Given the description of an element on the screen output the (x, y) to click on. 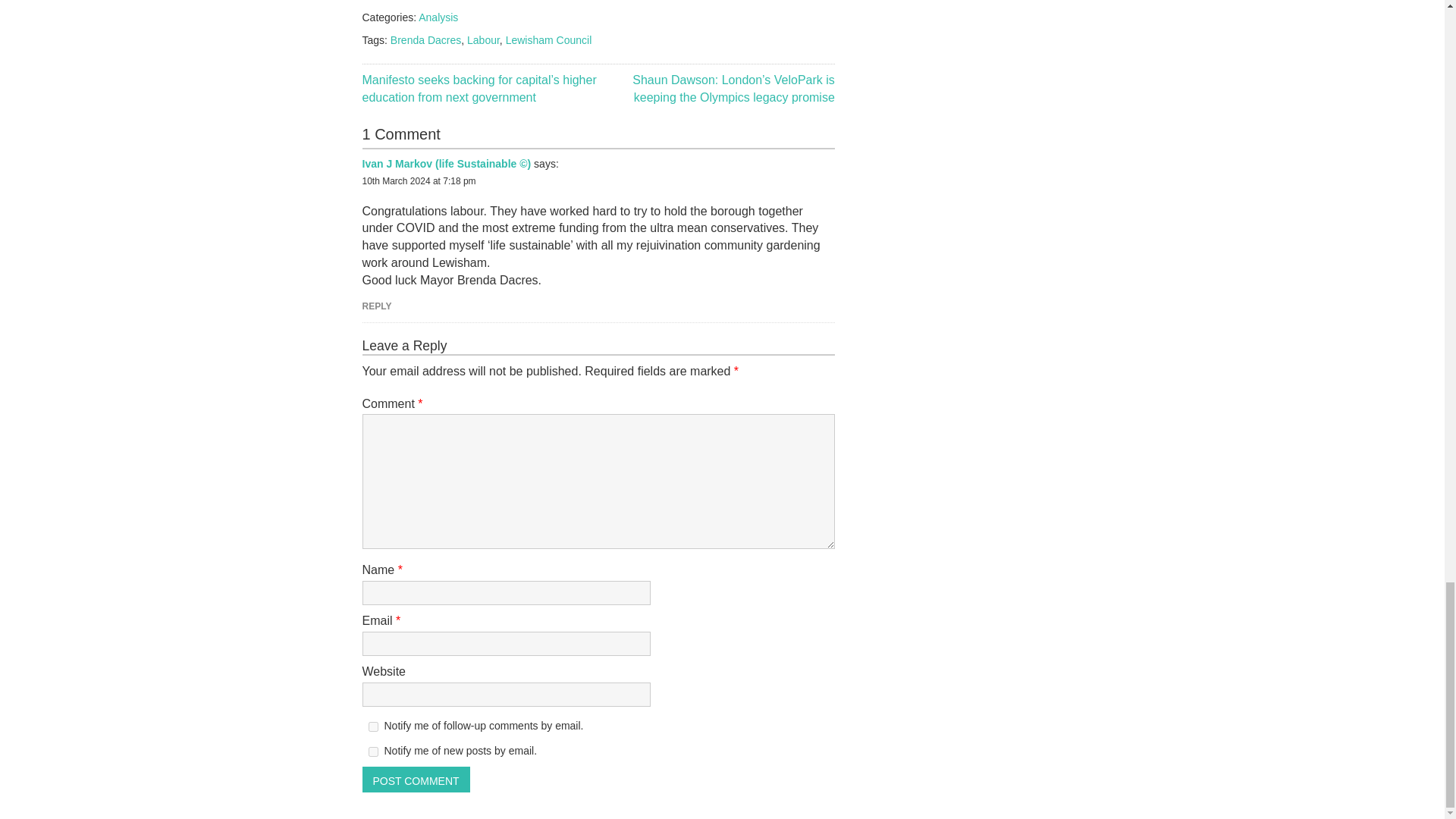
subscribe (373, 751)
subscribe (373, 726)
Post Comment (416, 779)
